Given the description of an element on the screen output the (x, y) to click on. 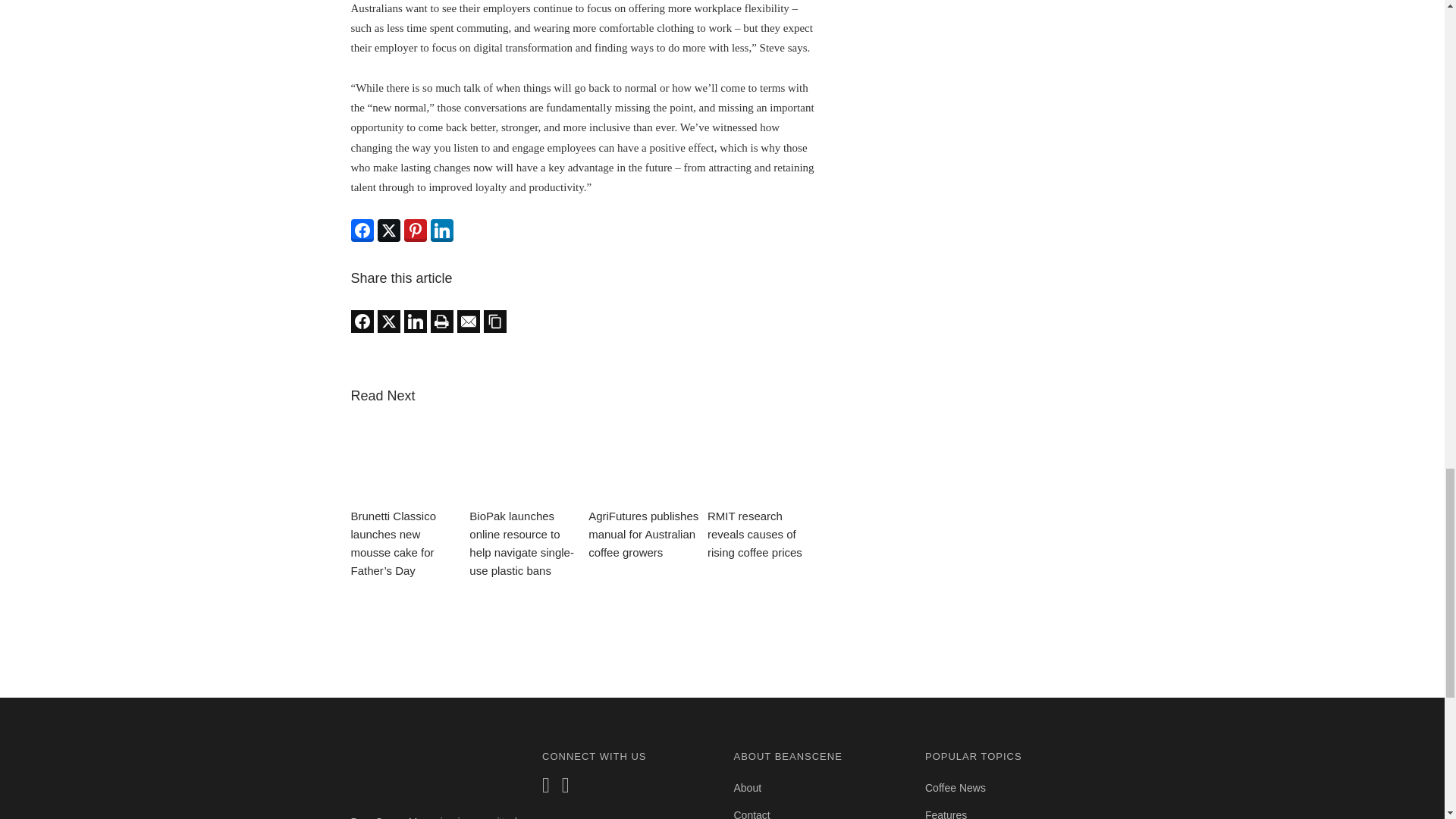
Share on Twitter (388, 230)
Share on Print (441, 321)
Share on LinkedIn (414, 321)
Share on Twitter (388, 321)
Share on LinkedIn (441, 230)
Share on Facebook (361, 230)
Share on Facebook (361, 321)
Share on Pinterest (414, 230)
